Given the description of an element on the screen output the (x, y) to click on. 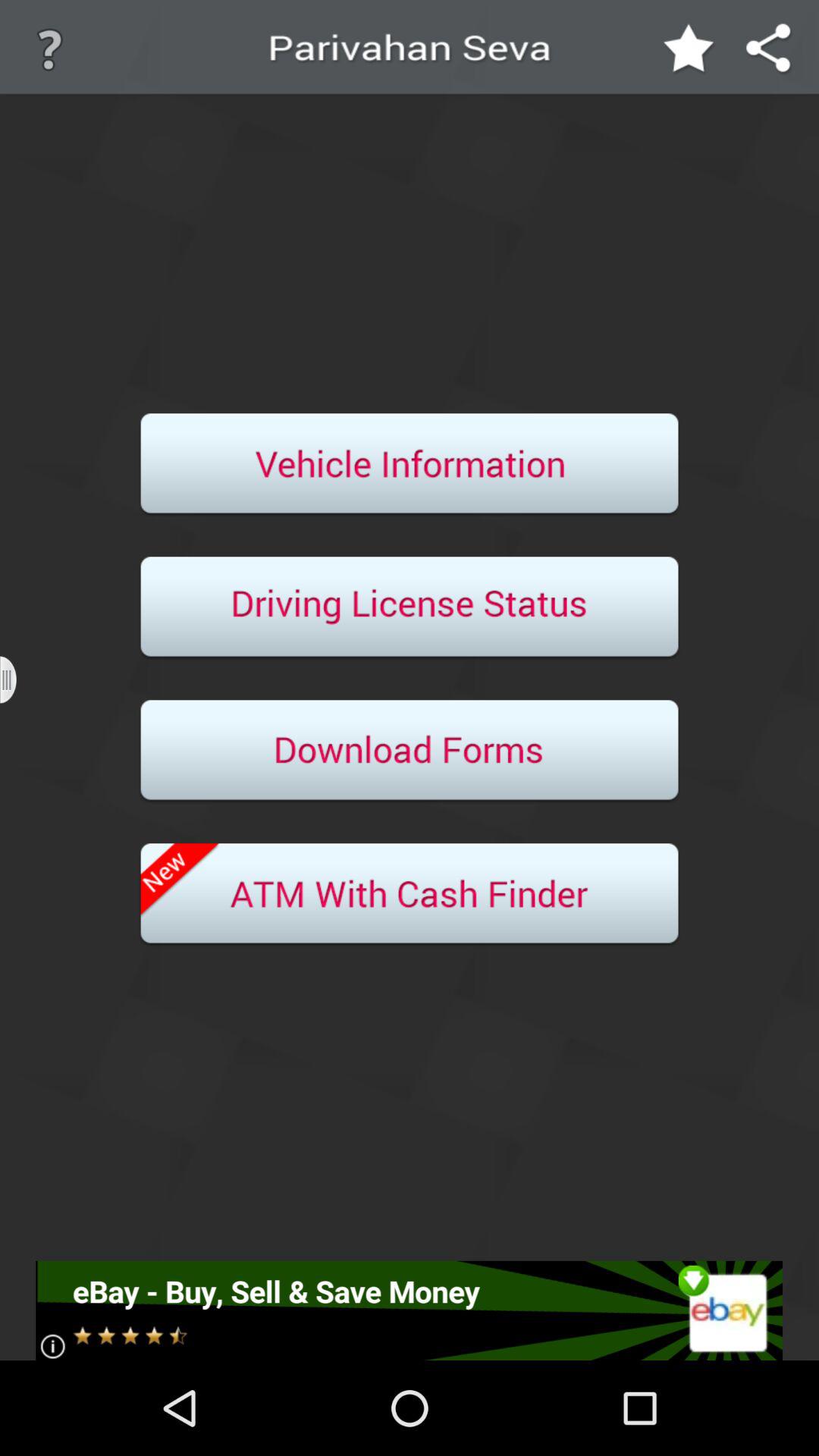
information button (409, 464)
